Given the description of an element on the screen output the (x, y) to click on. 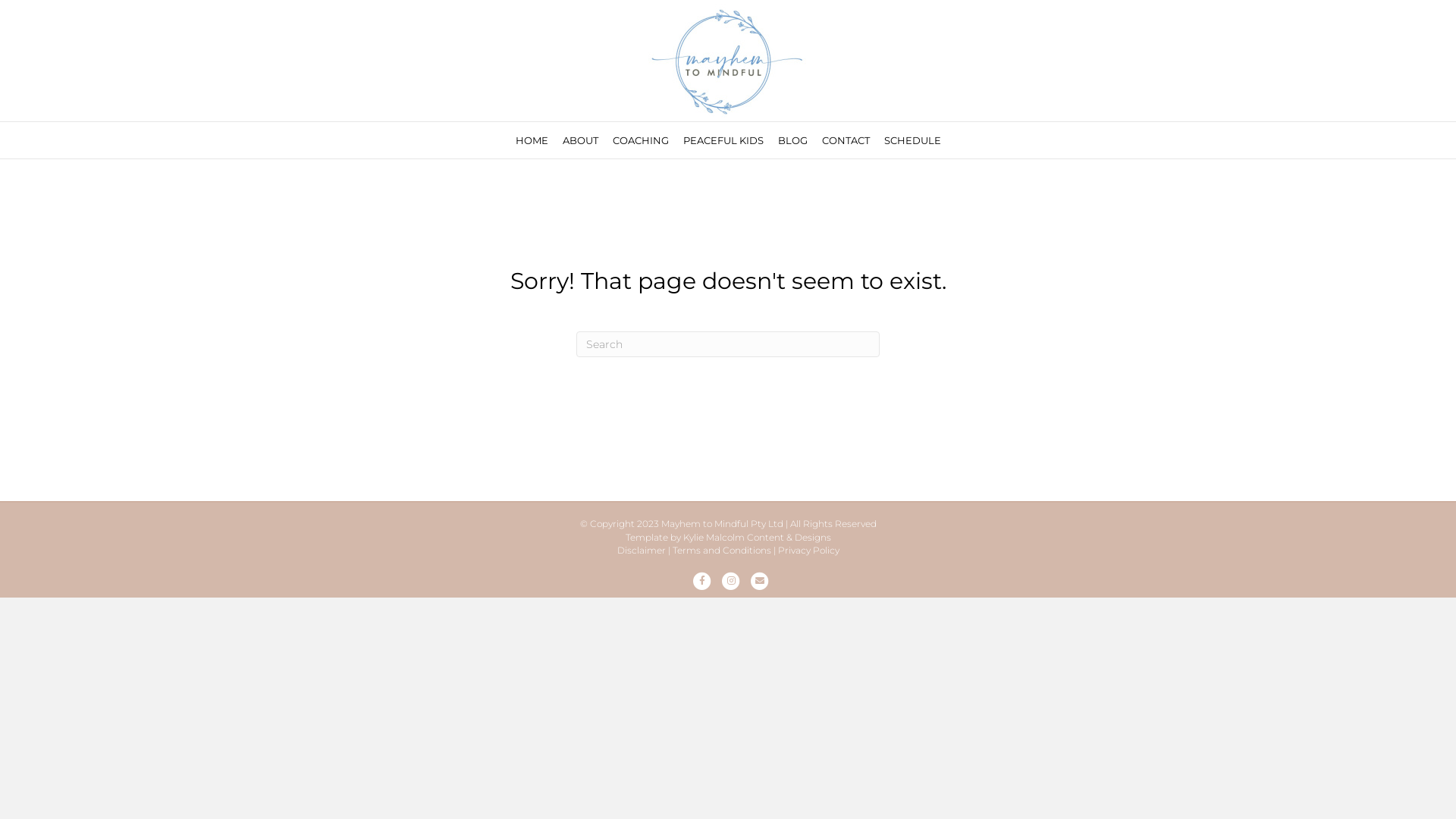
BLOG Element type: text (792, 140)
PEACEFUL KIDS Element type: text (722, 140)
ABOUT Element type: text (580, 140)
HOME Element type: text (531, 140)
Email Element type: text (759, 580)
COACHING Element type: text (640, 140)
Terms and Conditions | Element type: text (723, 549)
SCHEDULE Element type: text (912, 140)
Instagram Element type: text (730, 580)
CONTACT Element type: text (845, 140)
Facebook Element type: text (701, 580)
Template by Kylie Malcolm Content & Designs Element type: text (727, 536)
Type and press Enter to search. Element type: hover (727, 344)
Privacy Policy Element type: text (808, 549)
Disclaimer | Element type: text (643, 549)
